Given the description of an element on the screen output the (x, y) to click on. 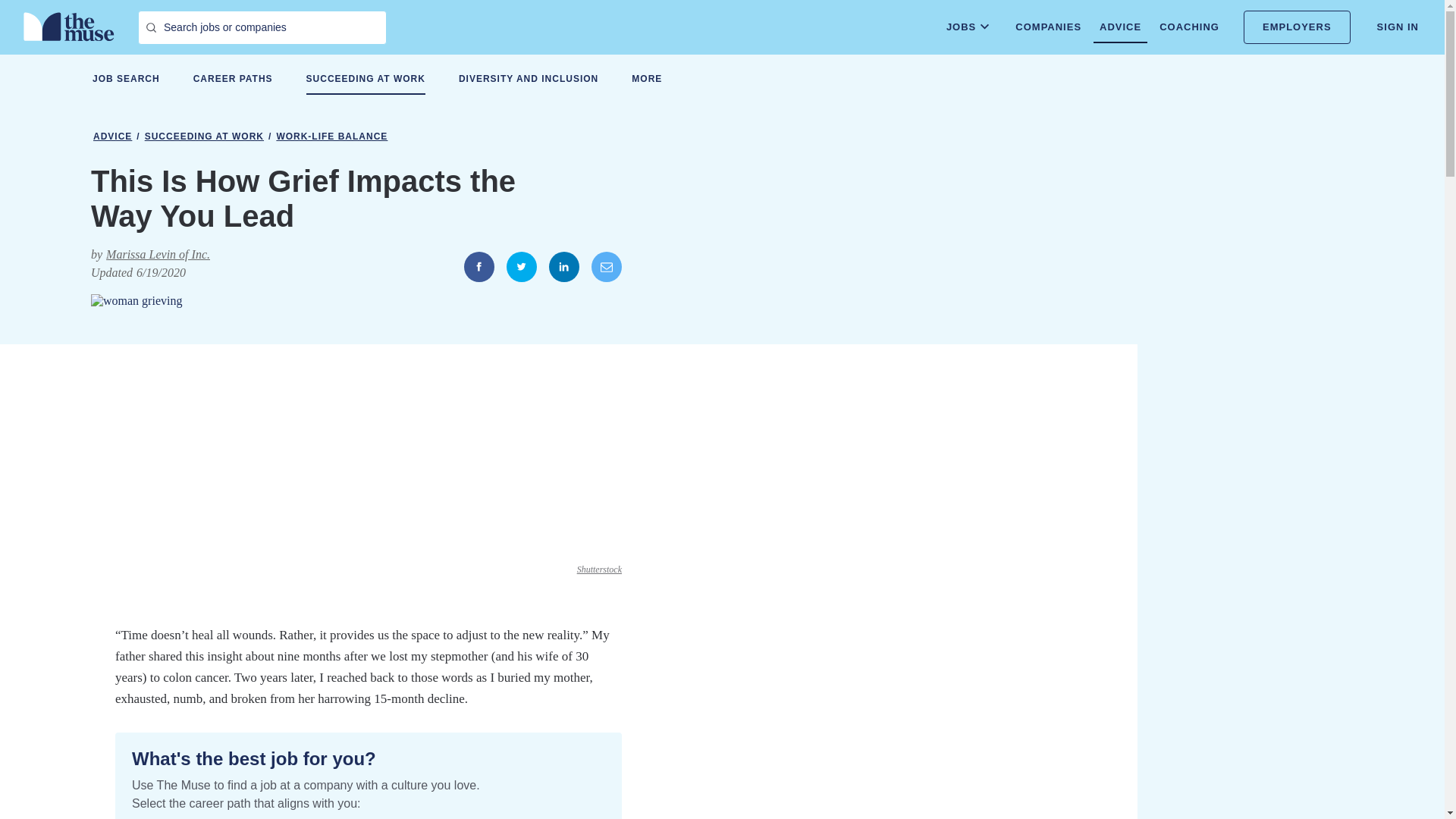
COACHING (1189, 27)
ADVICE (1120, 27)
EMPLOYERS (1297, 27)
COMPANIES (1048, 27)
SIGN IN (1398, 27)
